Given the description of an element on the screen output the (x, y) to click on. 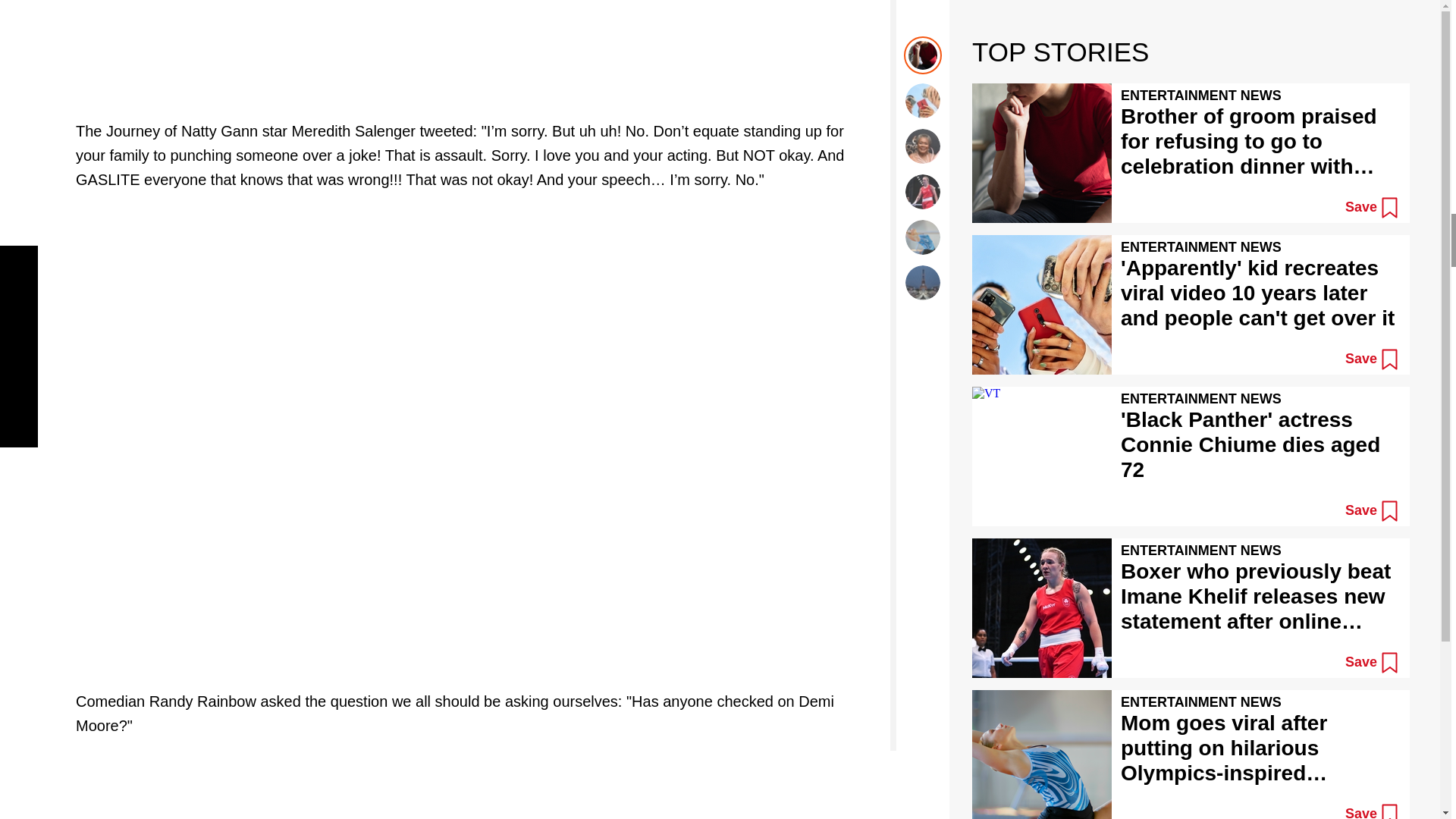
Twitter Tweet (474, 48)
Twitter Tweet (474, 788)
